Given the description of an element on the screen output the (x, y) to click on. 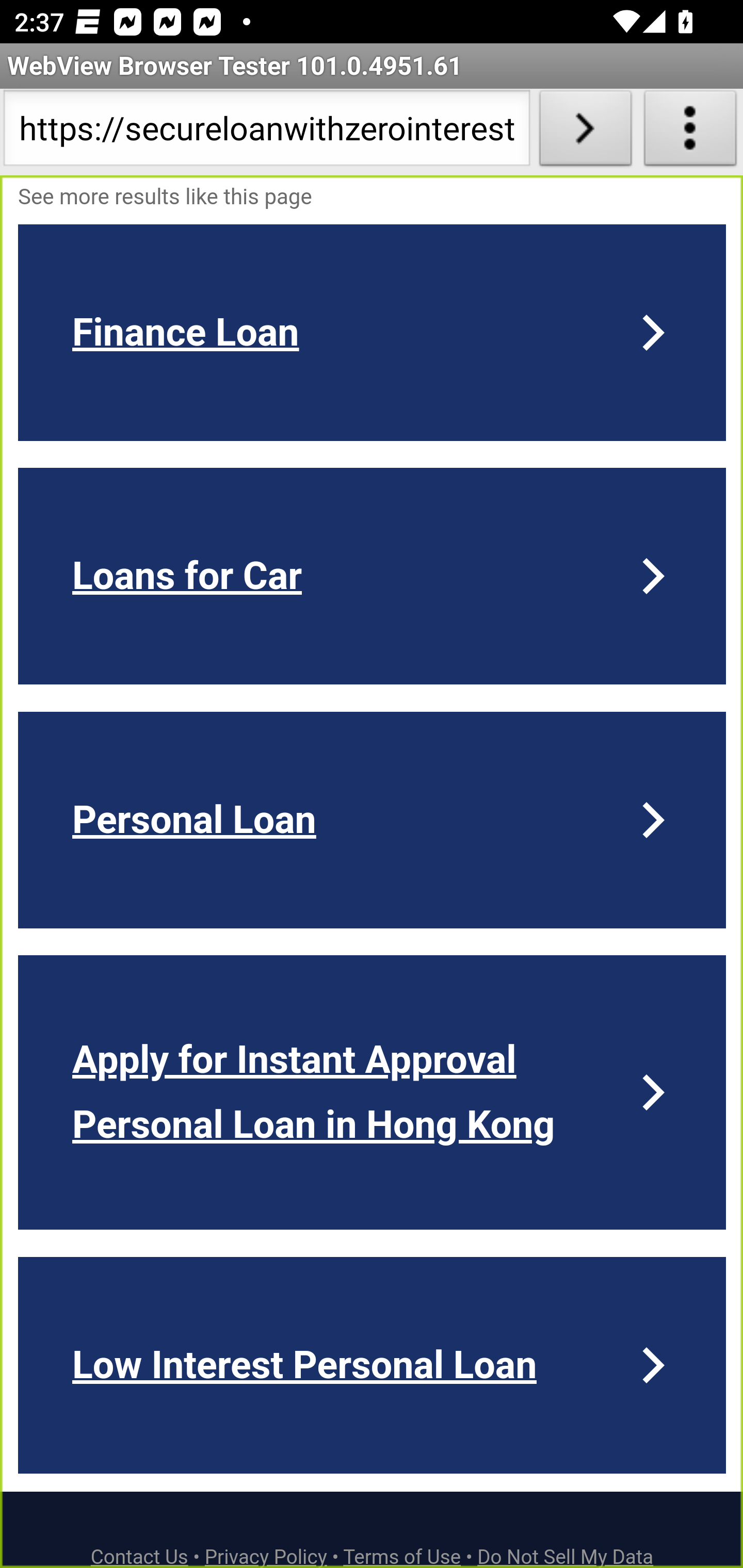
Load URL (585, 132)
About WebView (690, 132)
Finance Loan (372, 332)
Loans for Car (372, 576)
Personal Loan (372, 819)
Low Interest Personal Loan (372, 1364)
Contact Us (139, 1556)
Privacy Policy (265, 1556)
Terms of Use (402, 1556)
Do Not Sell My Data (566, 1556)
